Given the description of an element on the screen output the (x, y) to click on. 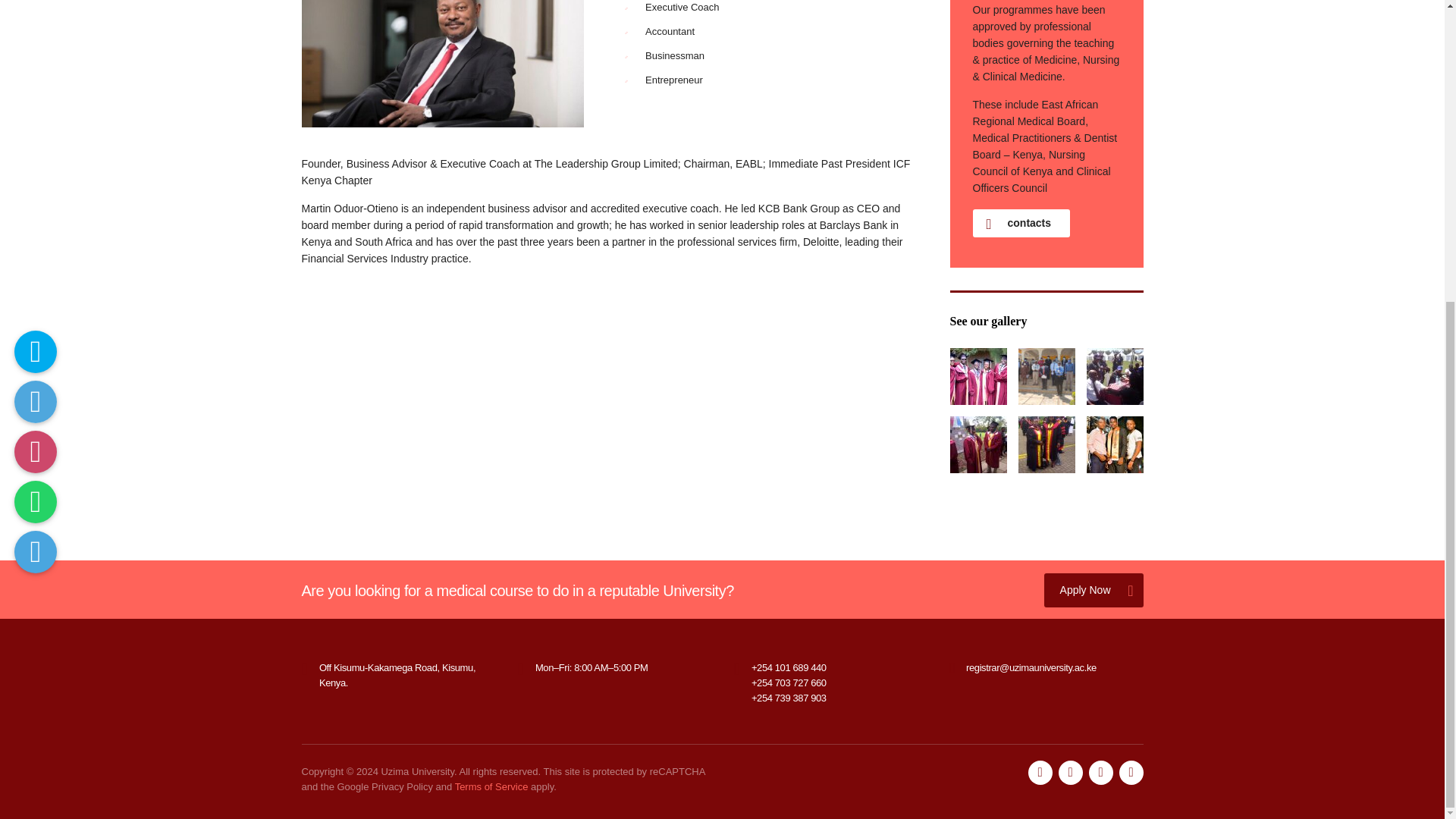
IMG-20200605-WA0061 (1045, 376)
